Given the description of an element on the screen output the (x, y) to click on. 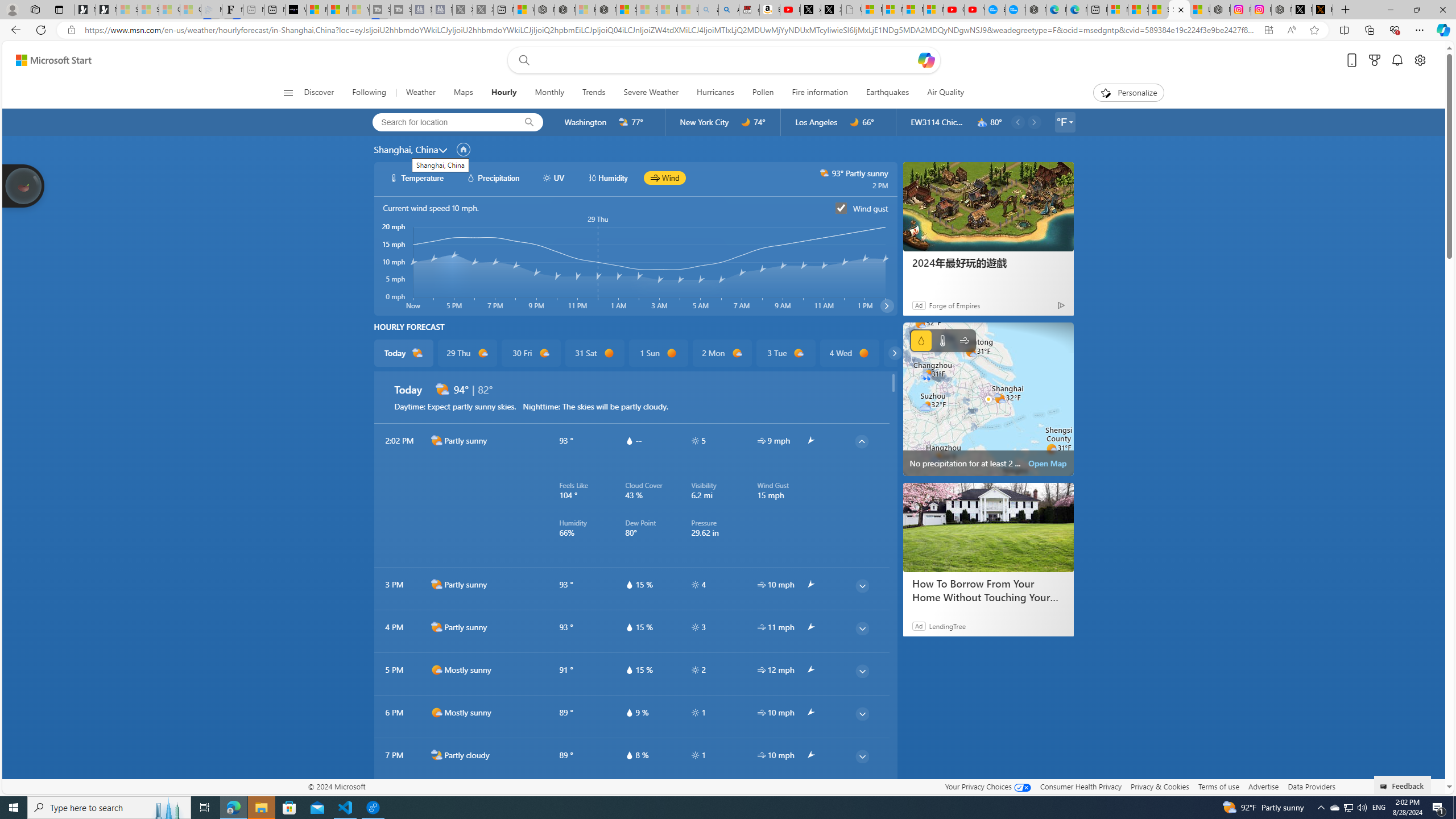
hourlyChart/temperatureWhite (394, 177)
Open Map (1047, 463)
Untitled (851, 9)
No precipitation for at least 2 hours (988, 398)
Air Quality (945, 92)
2 Mon d1000 (721, 352)
Hurricanes (715, 92)
common/thinArrow (861, 798)
amazon - Search - Sleeping (708, 9)
